Given the description of an element on the screen output the (x, y) to click on. 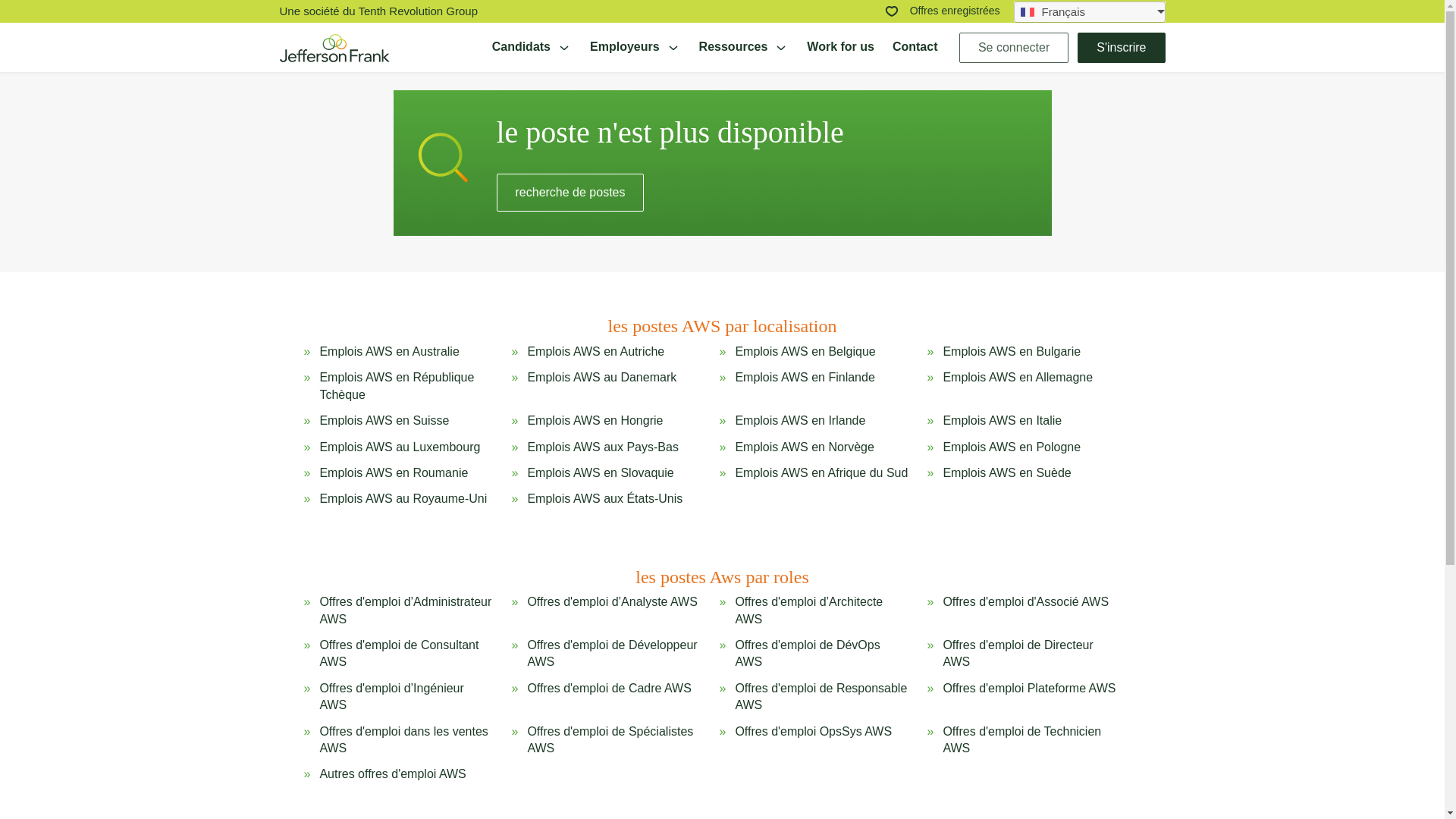
Emplois AWS en Bulgarie (1011, 351)
S'inscrire (1120, 46)
Emplois AWS en Hongrie (594, 420)
Jefferson Frank (333, 47)
Jefferson Frank (333, 47)
Ressources (743, 47)
Candidats (532, 47)
Emplois AWS en Finlande (805, 386)
Emplois AWS en Irlande (799, 420)
Emplois AWS en Suisse (383, 420)
Se connecter (1013, 46)
Work for us (840, 47)
Emplois AWS en Australie (388, 351)
Contact (914, 47)
Emplois AWS au Danemark (602, 386)
